Given the description of an element on the screen output the (x, y) to click on. 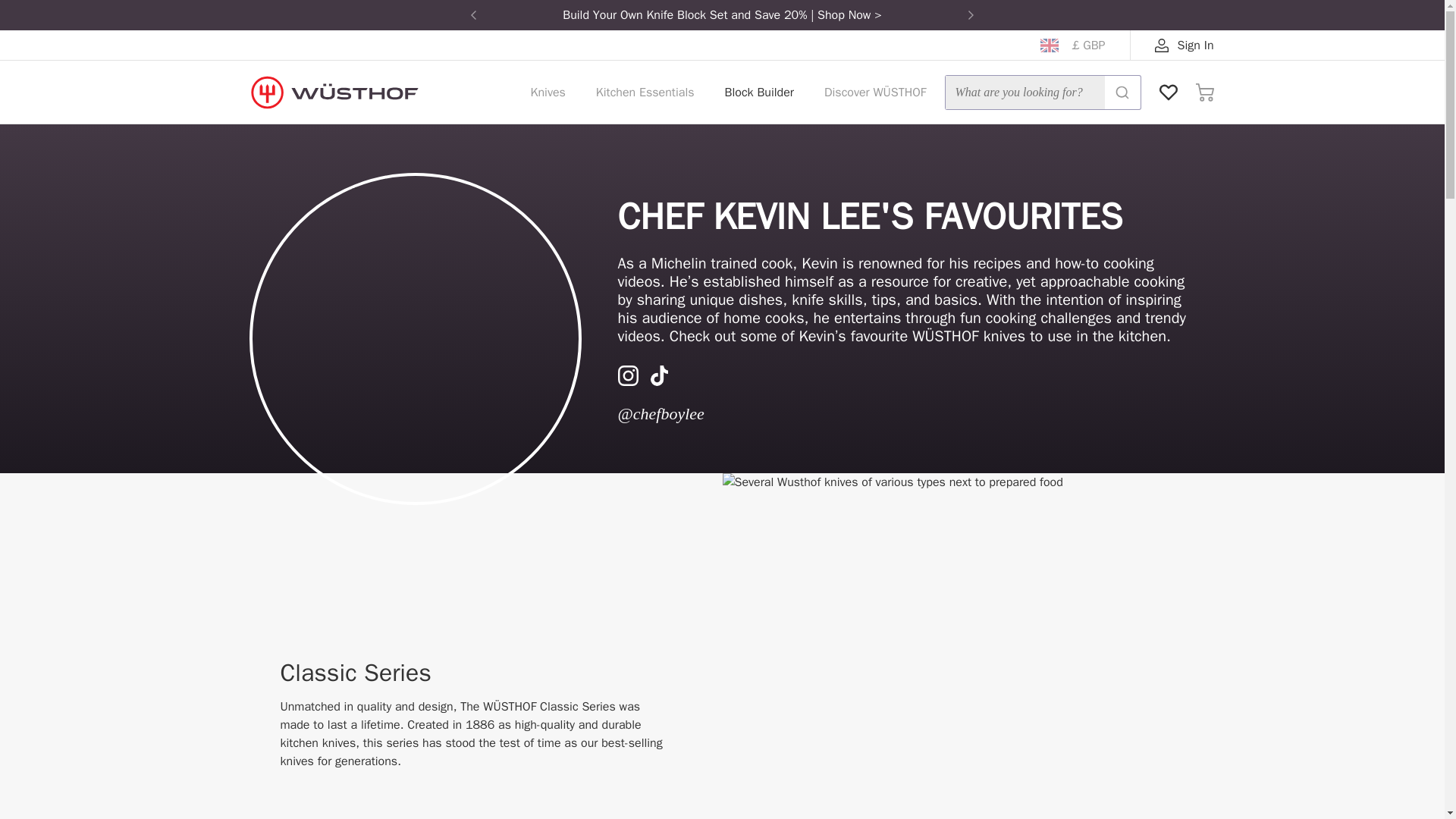
Knives (548, 92)
Sign In (1184, 45)
Submit (1122, 92)
Instagram (627, 379)
Kitchen Essentials (644, 92)
